Given the description of an element on the screen output the (x, y) to click on. 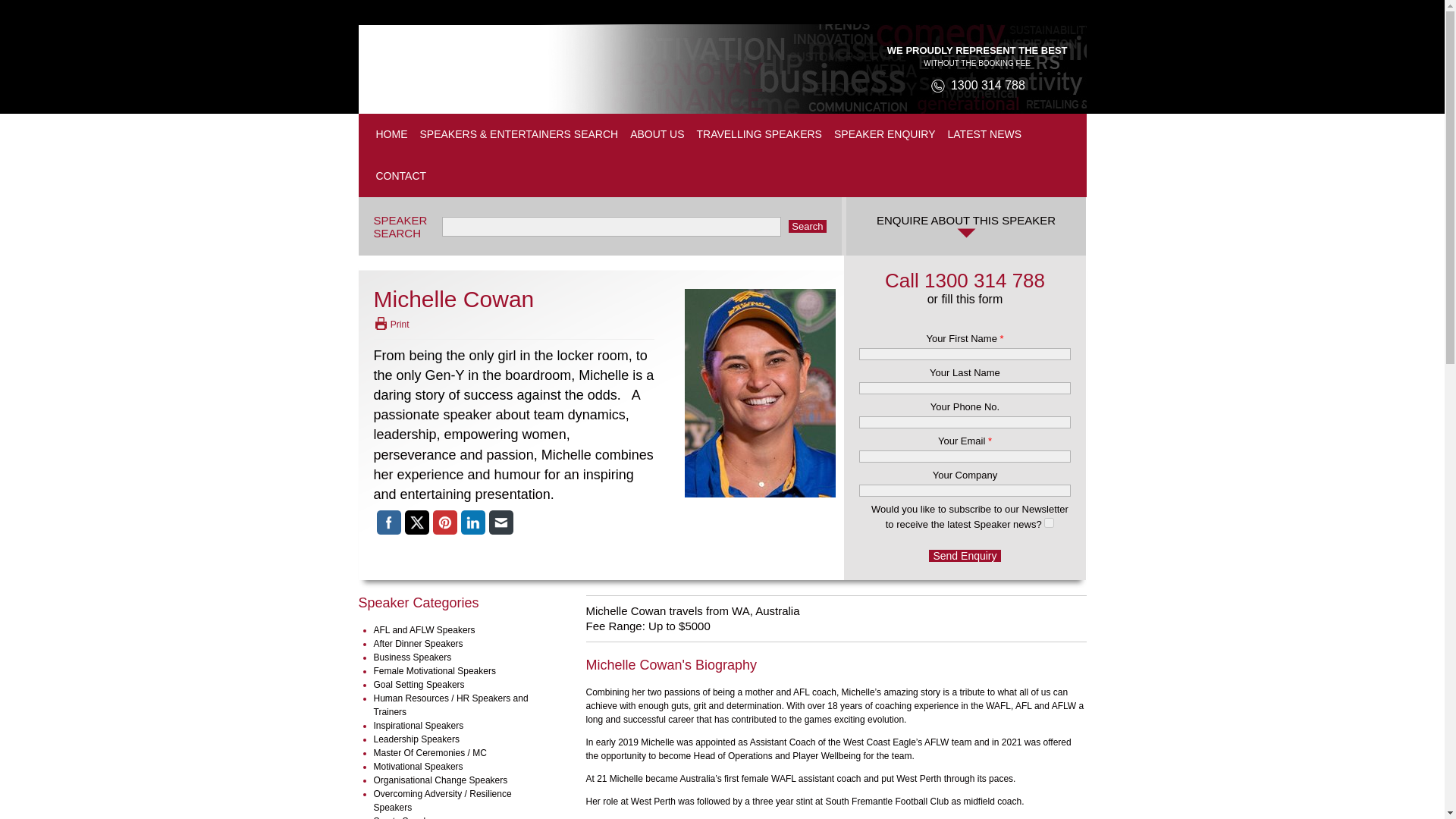
LATEST NEWS (984, 134)
CONTACT (400, 176)
HOME (391, 134)
Follow by Email (499, 522)
Facebook (387, 522)
Print (390, 324)
TRAVELLING SPEAKERS (758, 134)
Business Speakers (411, 656)
Inspirational Speakers (417, 725)
Organisational Change Speakers (439, 779)
Goal Setting Speakers (418, 684)
Send Enquiry (964, 555)
Send Enquiry (964, 555)
Pinterest (444, 522)
LinkedIn (472, 522)
